Given the description of an element on the screen output the (x, y) to click on. 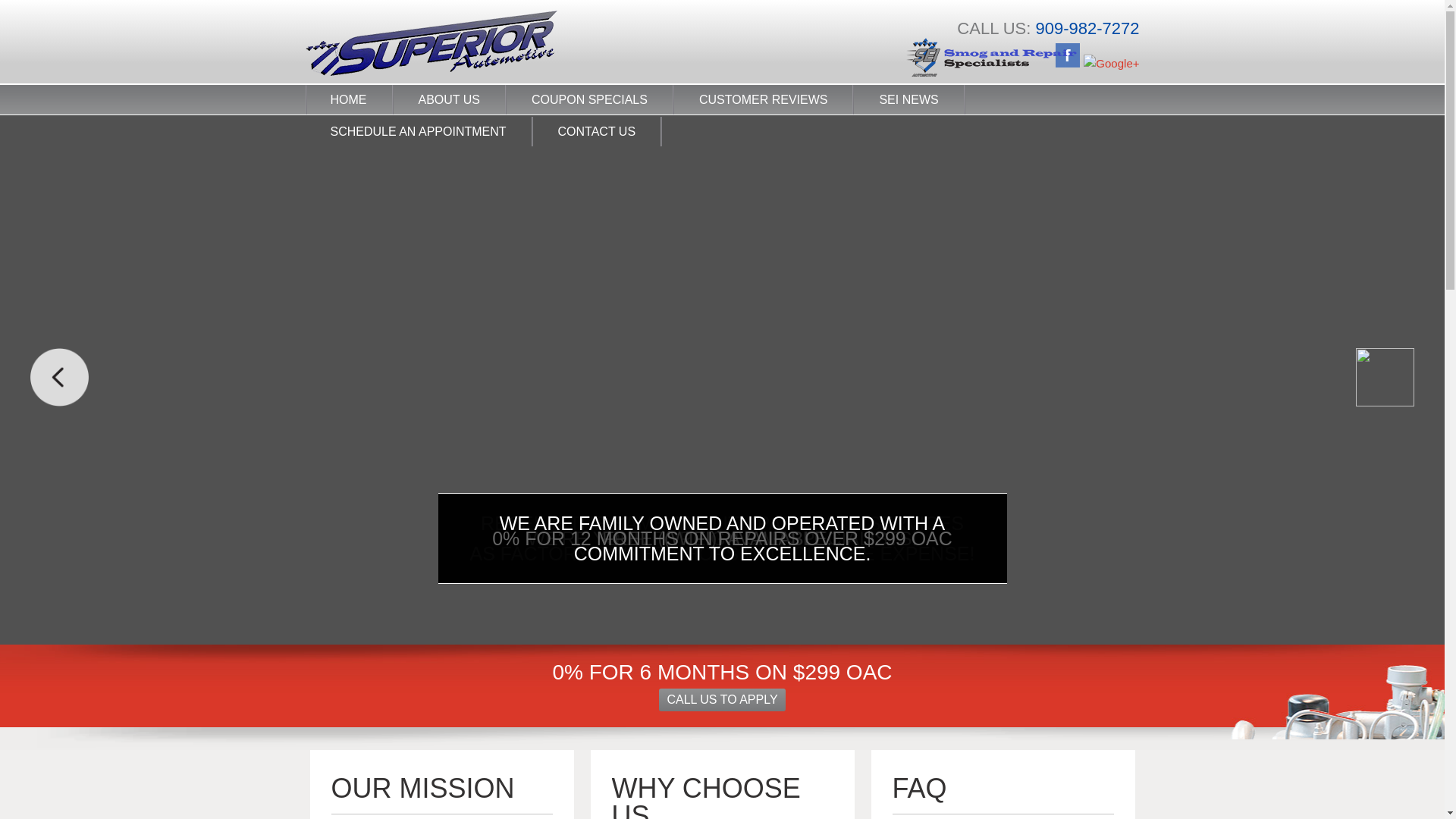
HOME (348, 101)
SCHEDULE AN APPOINTMENT (418, 132)
CALL US TO APPLY (721, 699)
CUSTOMER REVIEWS (764, 101)
ABOUT US (449, 101)
SEI NEWS (908, 101)
CONTACT US (597, 132)
COUPON SPECIALS (590, 101)
